Given the description of an element on the screen output the (x, y) to click on. 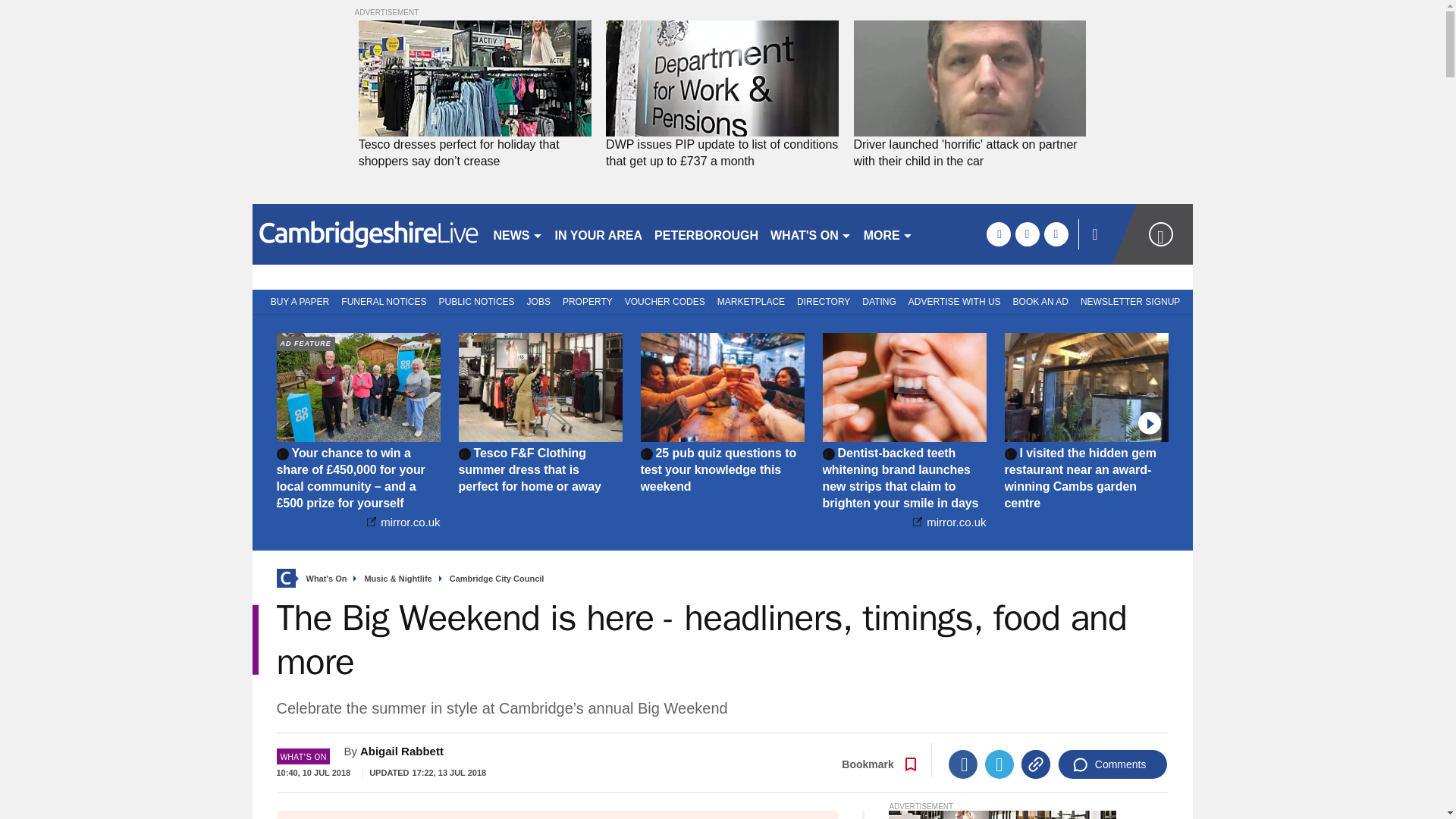
MORE (887, 233)
PETERBOROUGH (705, 233)
Facebook (962, 764)
IN YOUR AREA (598, 233)
twitter (1026, 233)
WHAT'S ON (810, 233)
Twitter (999, 764)
instagram (1055, 233)
NEWS (517, 233)
cambridgenews (365, 233)
facebook (997, 233)
Comments (1112, 764)
